Given the description of an element on the screen output the (x, y) to click on. 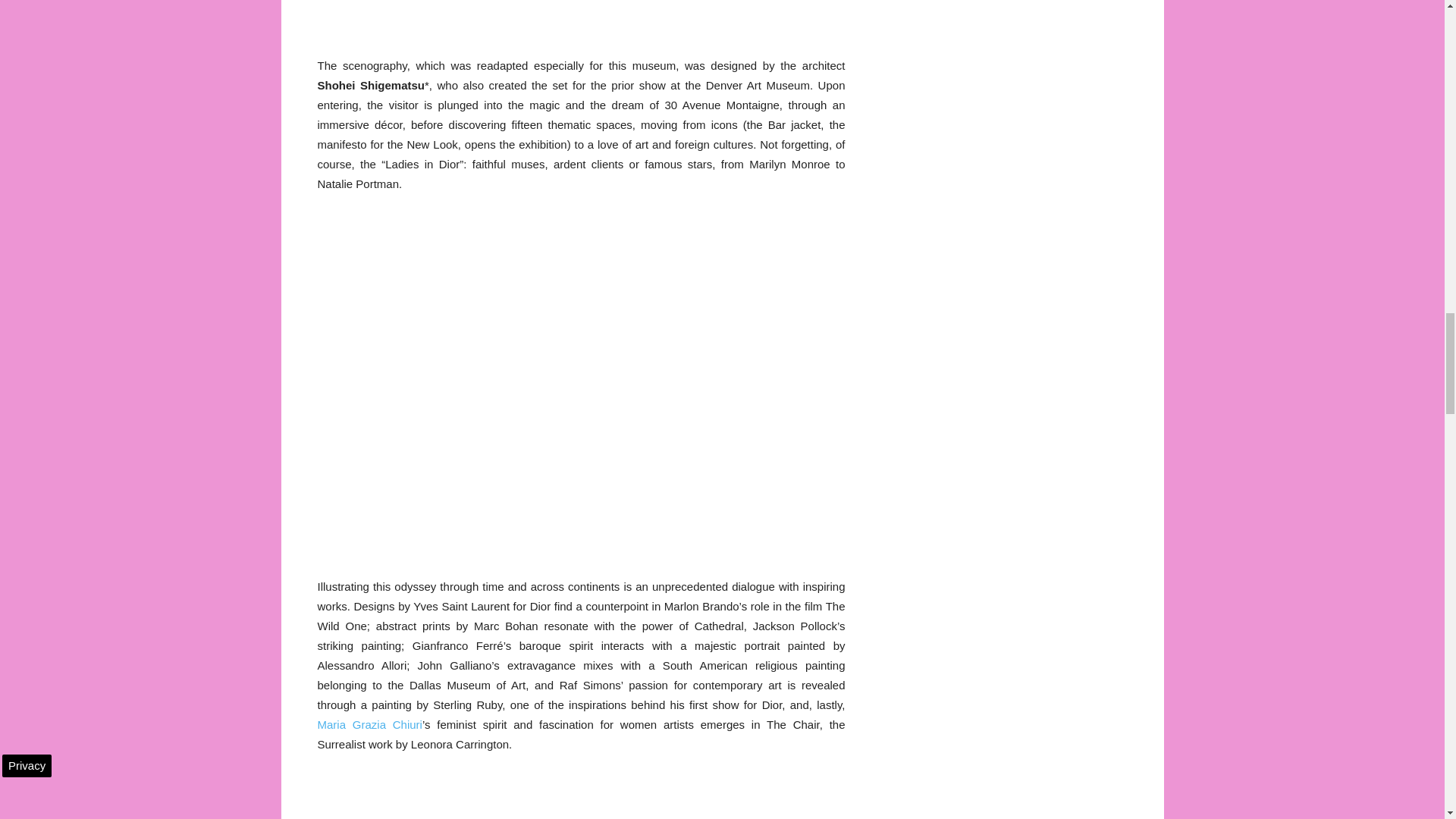
Maria Grazia Chiuri (369, 724)
